Given the description of an element on the screen output the (x, y) to click on. 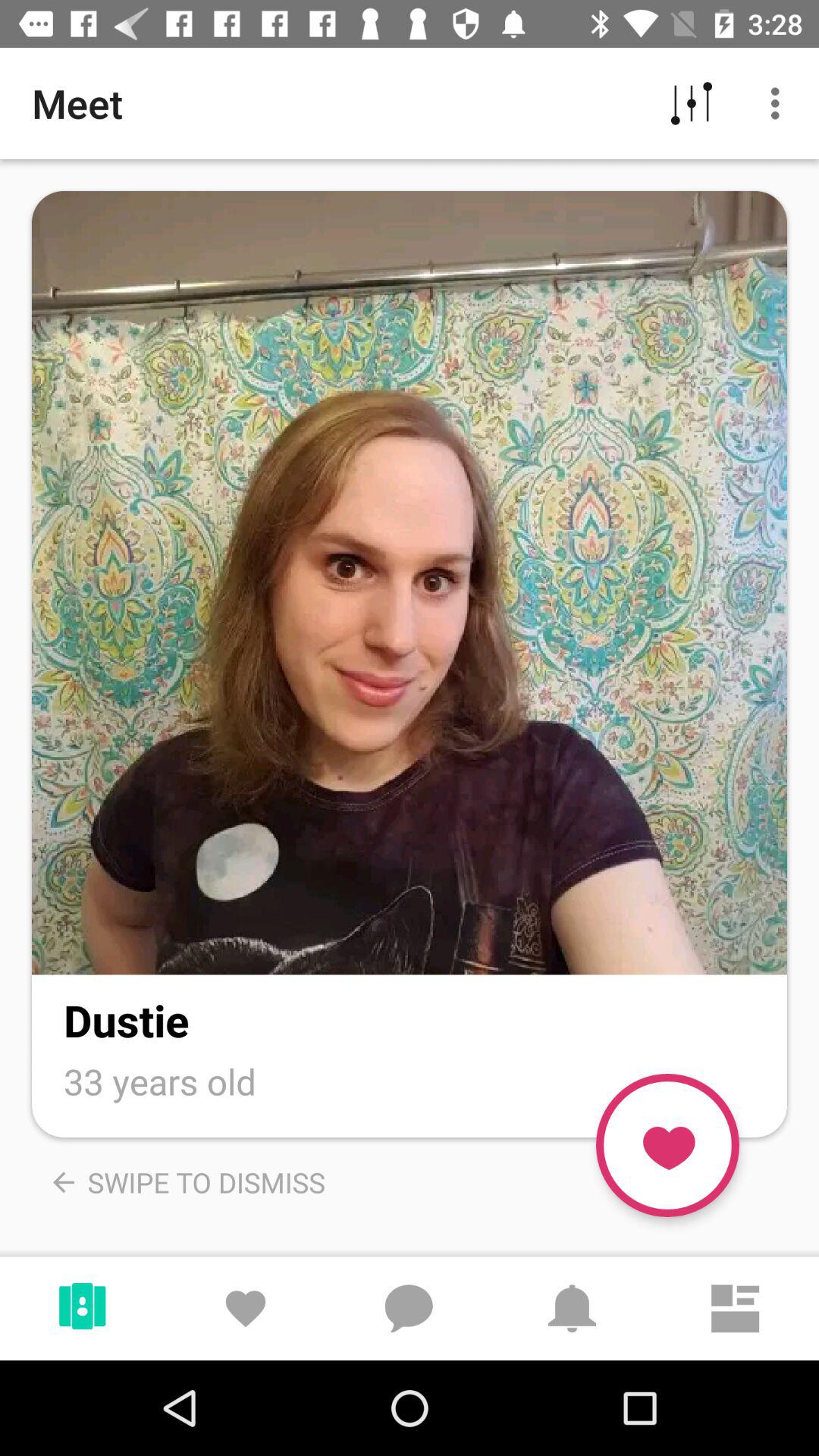
like user (667, 1145)
